Given the description of an element on the screen output the (x, y) to click on. 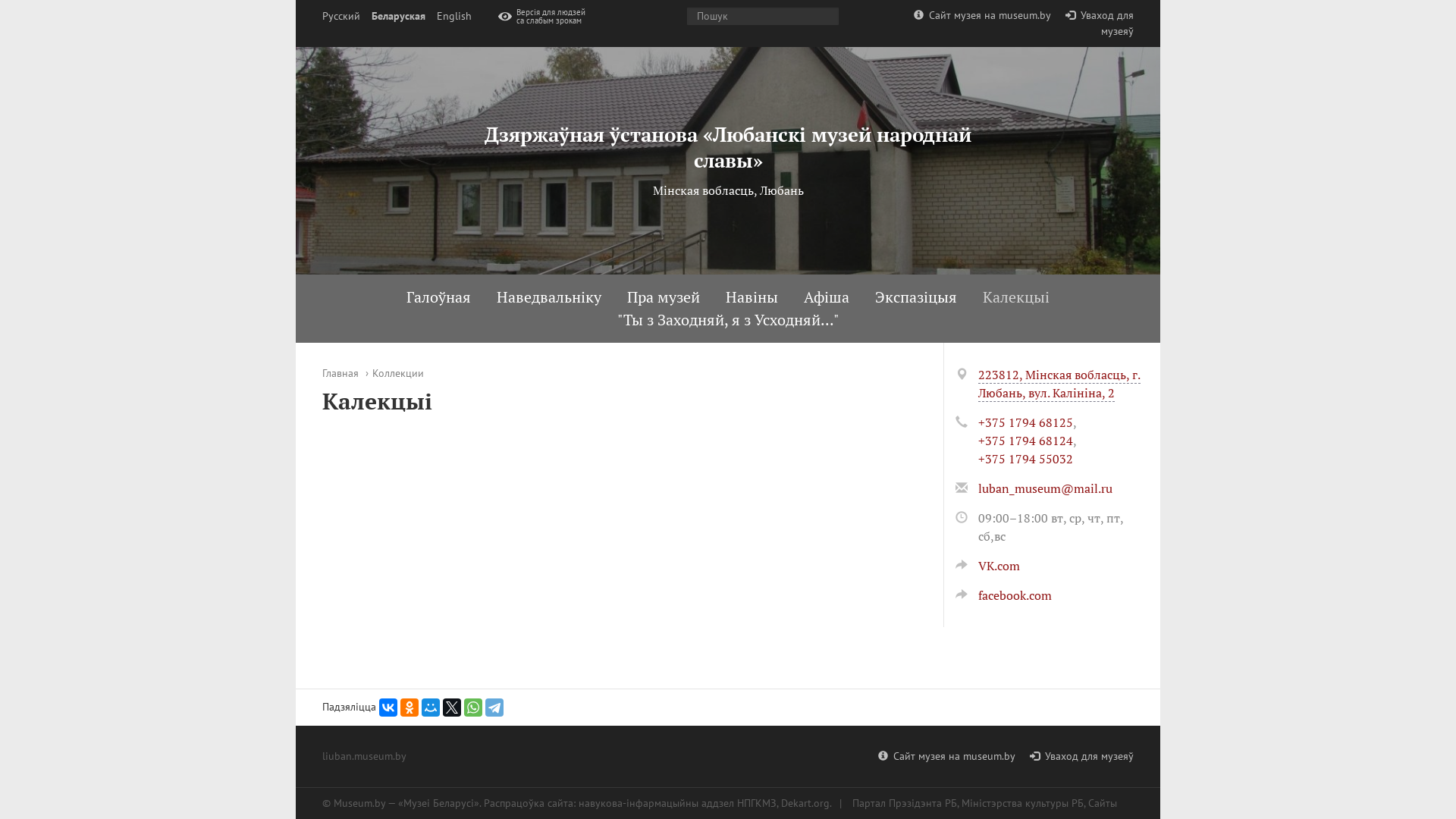
Museum.by Element type: text (359, 802)
Twitter Element type: hover (451, 707)
Dekart.org Element type: text (805, 802)
+375 1794 55032 Element type: text (1025, 458)
facebook.com Element type: text (1003, 594)
WhatsApp Element type: hover (473, 707)
+375 1794 68124 Element type: text (1025, 440)
luban_museum@mail.ru Element type: text (1045, 488)
English Element type: text (453, 16)
VK.com Element type: text (987, 565)
+375 1794 68125 Element type: text (1025, 422)
Telegram Element type: hover (494, 707)
